Given the description of an element on the screen output the (x, y) to click on. 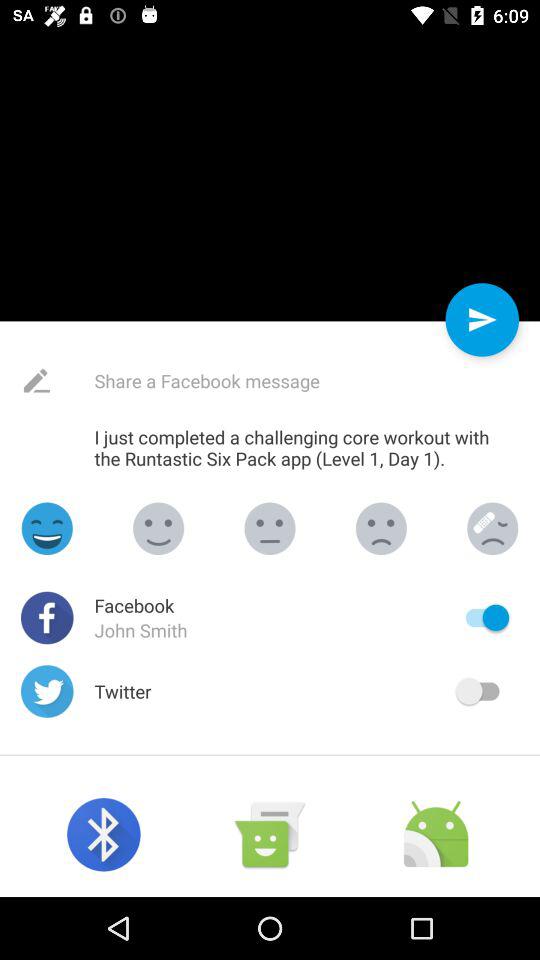
smile selection (492, 528)
